Given the description of an element on the screen output the (x, y) to click on. 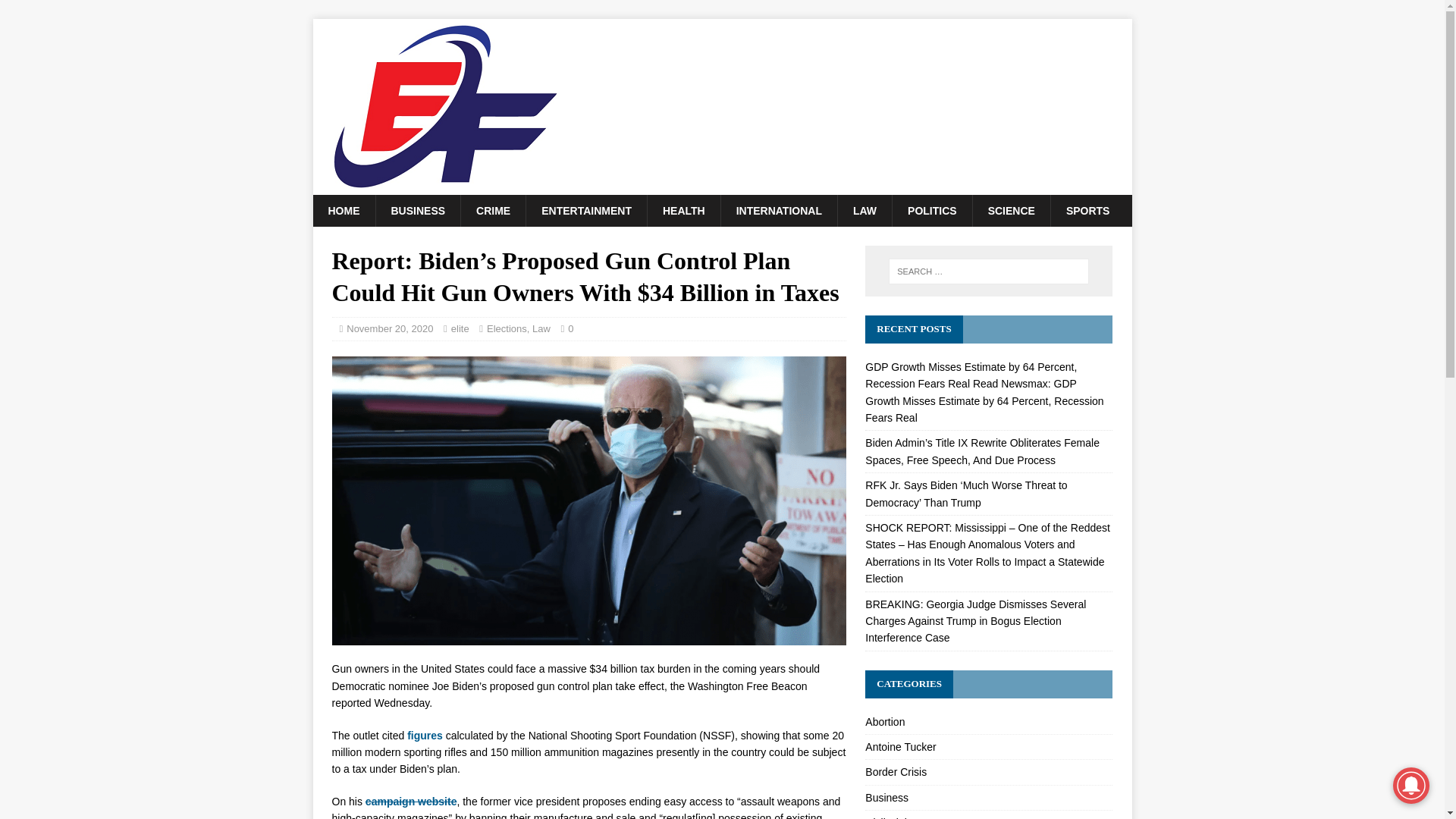
CRIME (492, 210)
Elite Feed - News and Commentary (445, 186)
campaign website (411, 801)
Elections (506, 328)
November 20, 2020 (389, 328)
elite (459, 328)
HOME (343, 210)
INTERNATIONAL (778, 210)
Law (541, 328)
HEALTH (683, 210)
ENTERTAINMENT (585, 210)
POLITICS (931, 210)
BUSINESS (417, 210)
